Given the description of an element on the screen output the (x, y) to click on. 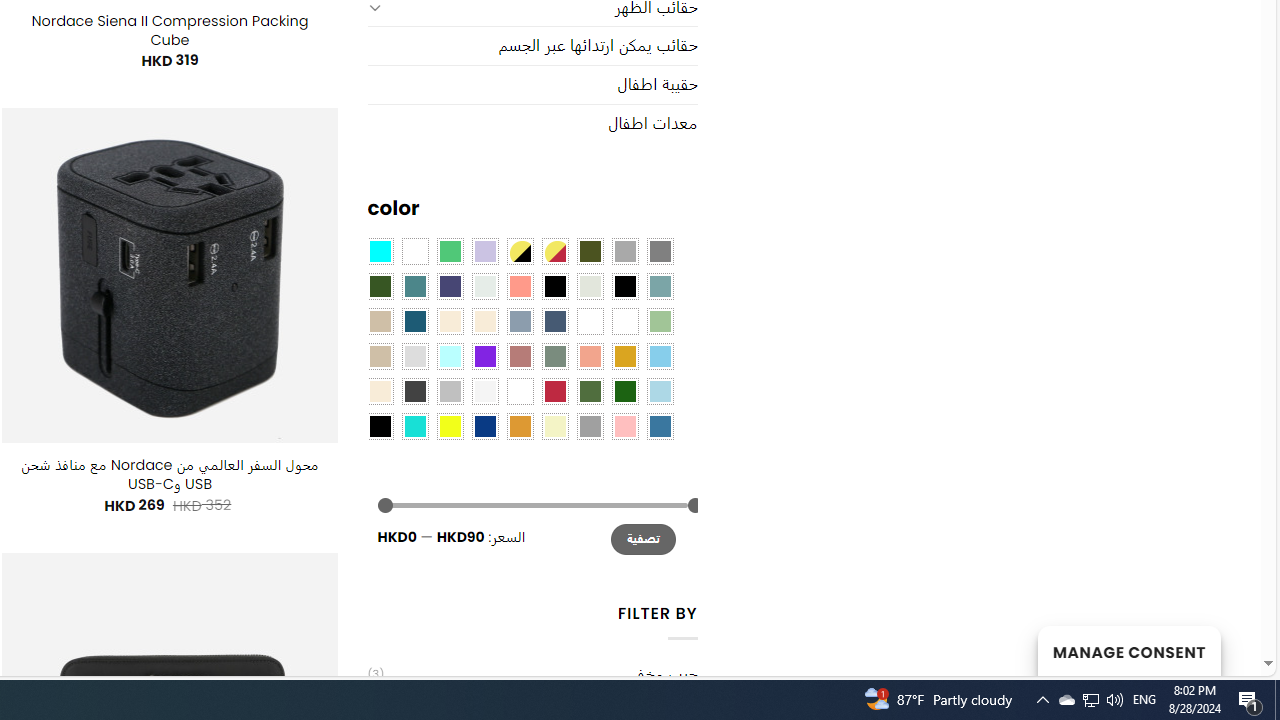
Kelp (589, 321)
Cream (484, 321)
